Given the description of an element on the screen output the (x, y) to click on. 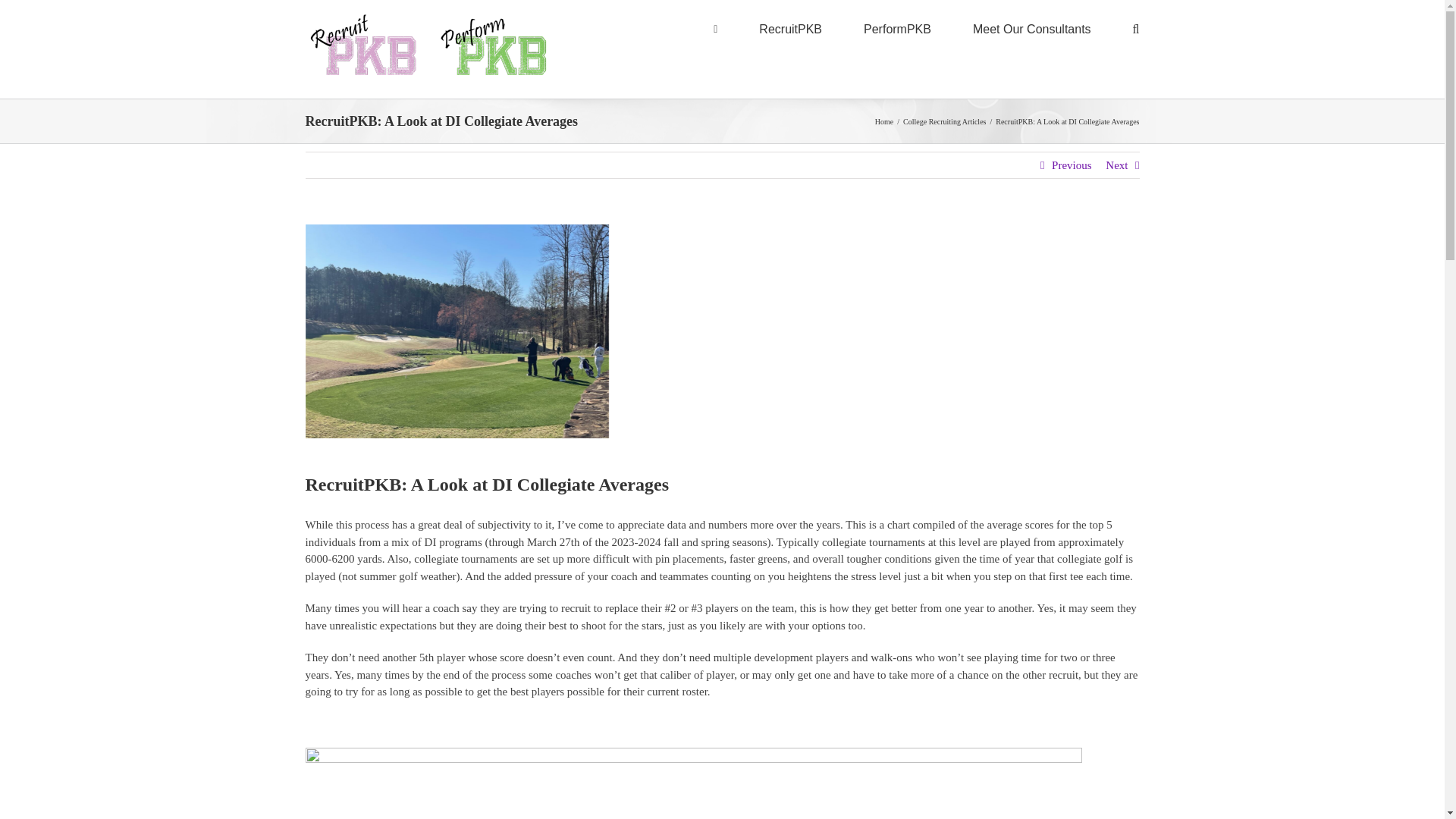
RecruitPKB (790, 28)
Meet Our Consultants (1031, 28)
PerformPKB (897, 28)
